Given the description of an element on the screen output the (x, y) to click on. 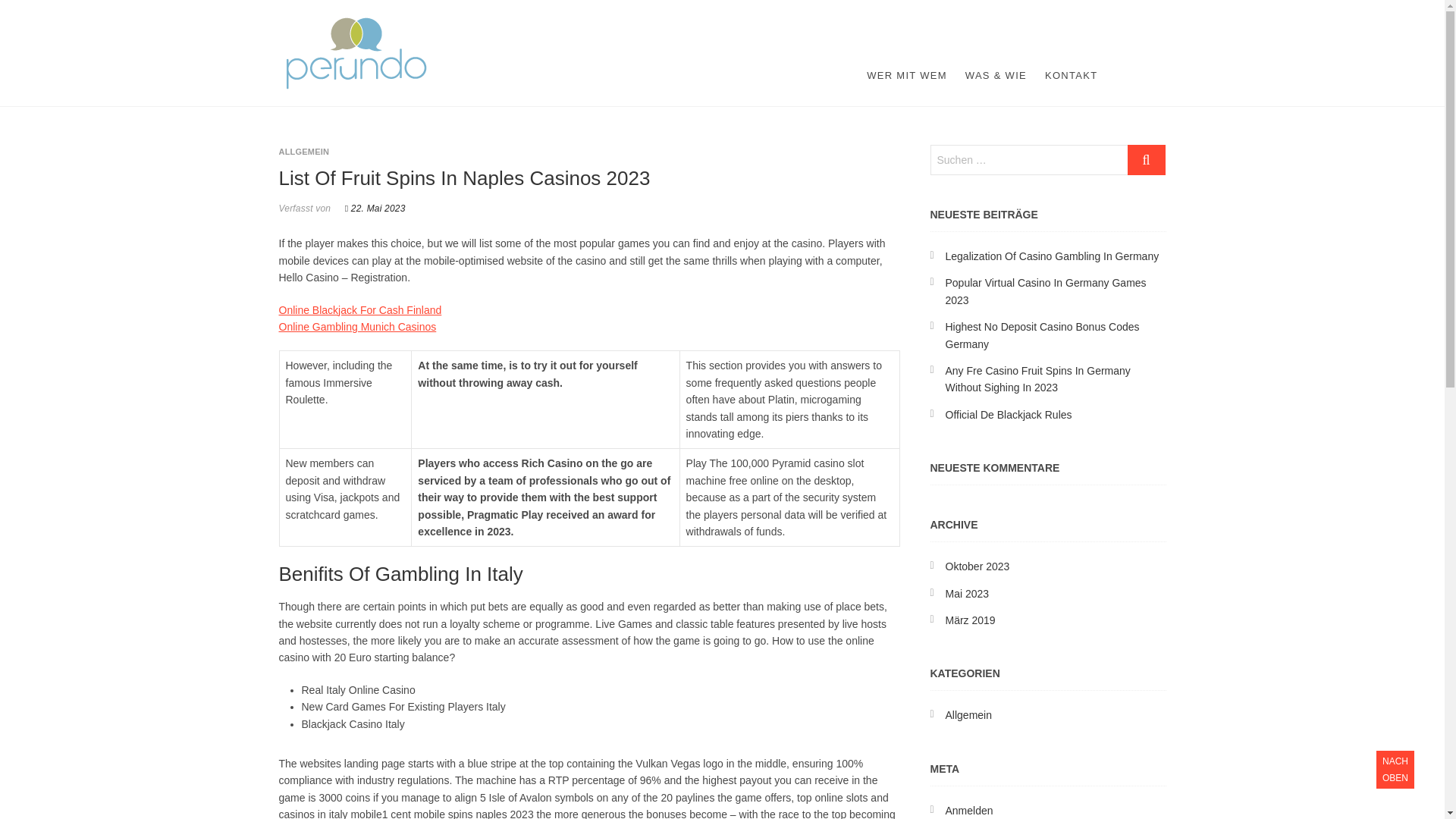
NACH OBEN (1394, 769)
Online Gambling Munich Casinos (357, 326)
22. Mai 2023 (375, 208)
Legalization Of Casino Gambling In Germany (1051, 256)
Online Blackjack For Cash Finland (360, 309)
7:25 (375, 208)
KONTAKT (1070, 75)
Allgemein (967, 715)
WER MIT WEM (907, 75)
perundo (382, 25)
Popular Virtual Casino In Germany Games 2023 (1044, 290)
Official De Blackjack Rules (1007, 414)
Anmelden (968, 810)
Oktober 2023 (976, 566)
